Given the description of an element on the screen output the (x, y) to click on. 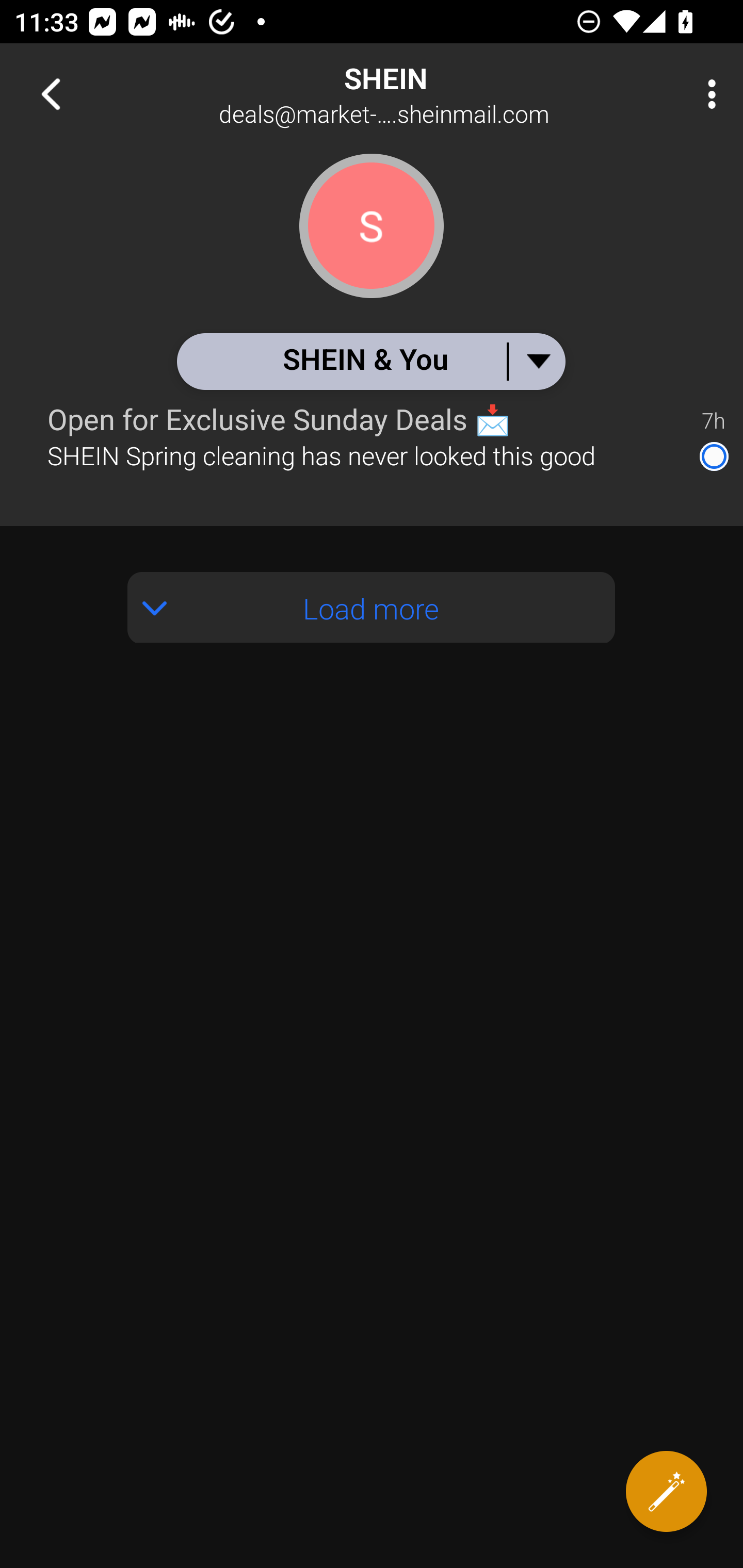
Navigate up (50, 93)
SHEIN deals@market-us.sheinmail.com (436, 93)
More Options (706, 93)
SHEIN & You (370, 361)
Load more (371, 607)
